Given the description of an element on the screen output the (x, y) to click on. 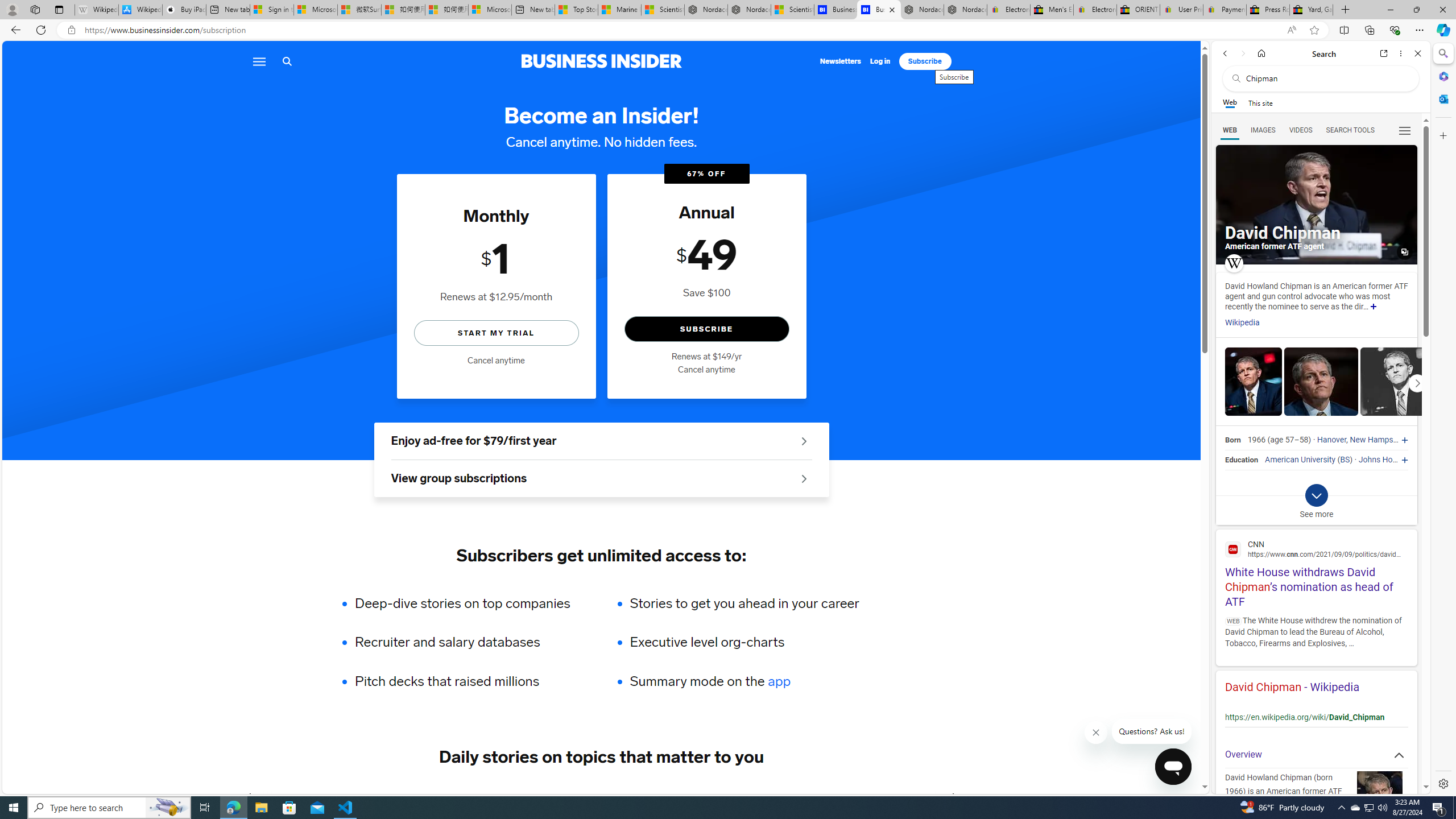
Newsletters (840, 61)
Go to the search page. (286, 61)
Menu (257, 61)
Executive level org-charts (743, 642)
FINANCE (485, 796)
START MY TRIAL (496, 332)
